Given the description of an element on the screen output the (x, y) to click on. 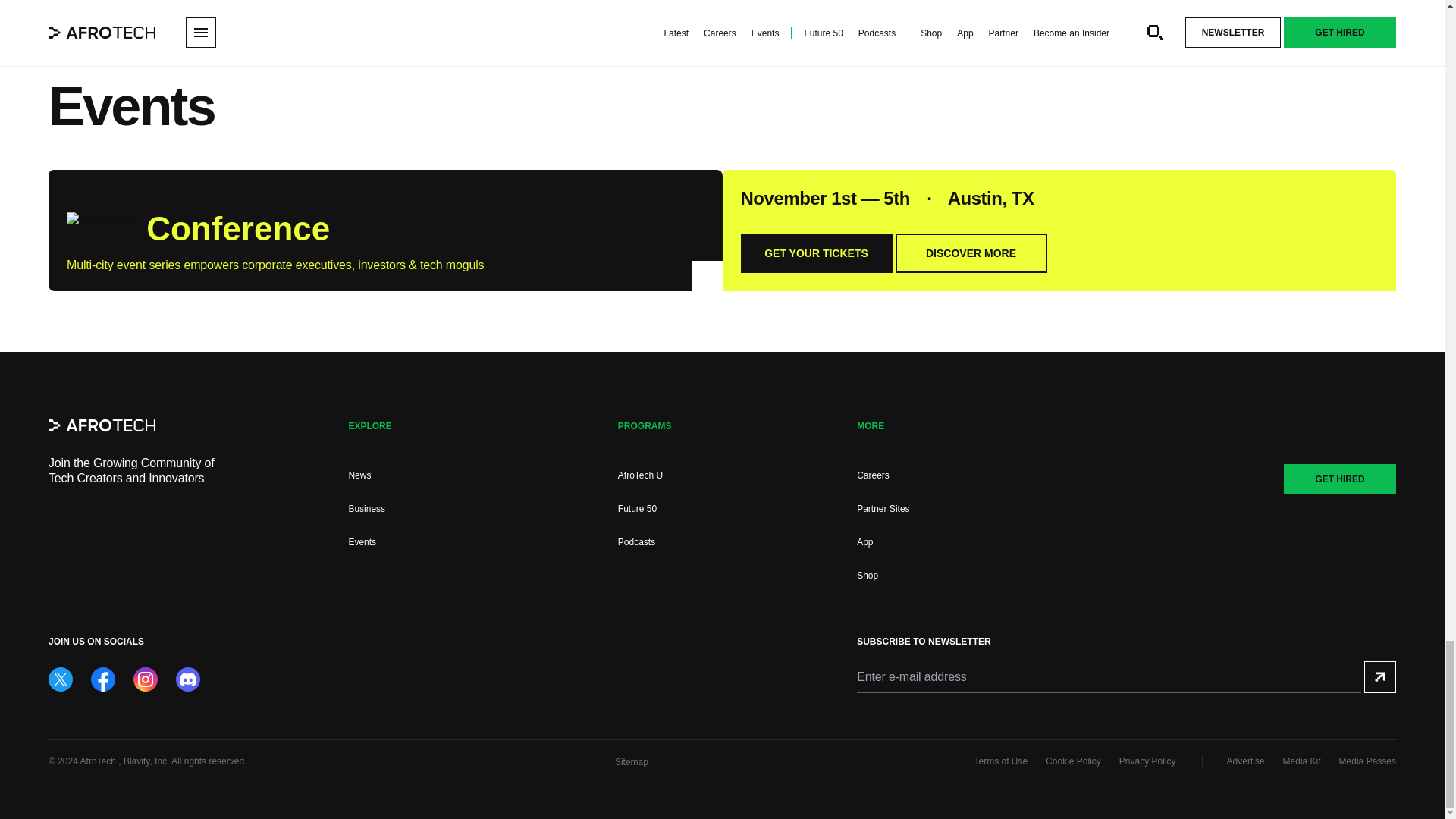
Podcasts (636, 542)
Future 50 (636, 508)
GET YOUR TICKETS (815, 252)
Careers (873, 475)
Partner Sites (882, 508)
GET HIRED (1340, 479)
DISCOVER MORE (970, 252)
AfroTech U (639, 475)
News (359, 475)
App (864, 542)
